Given the description of an element on the screen output the (x, y) to click on. 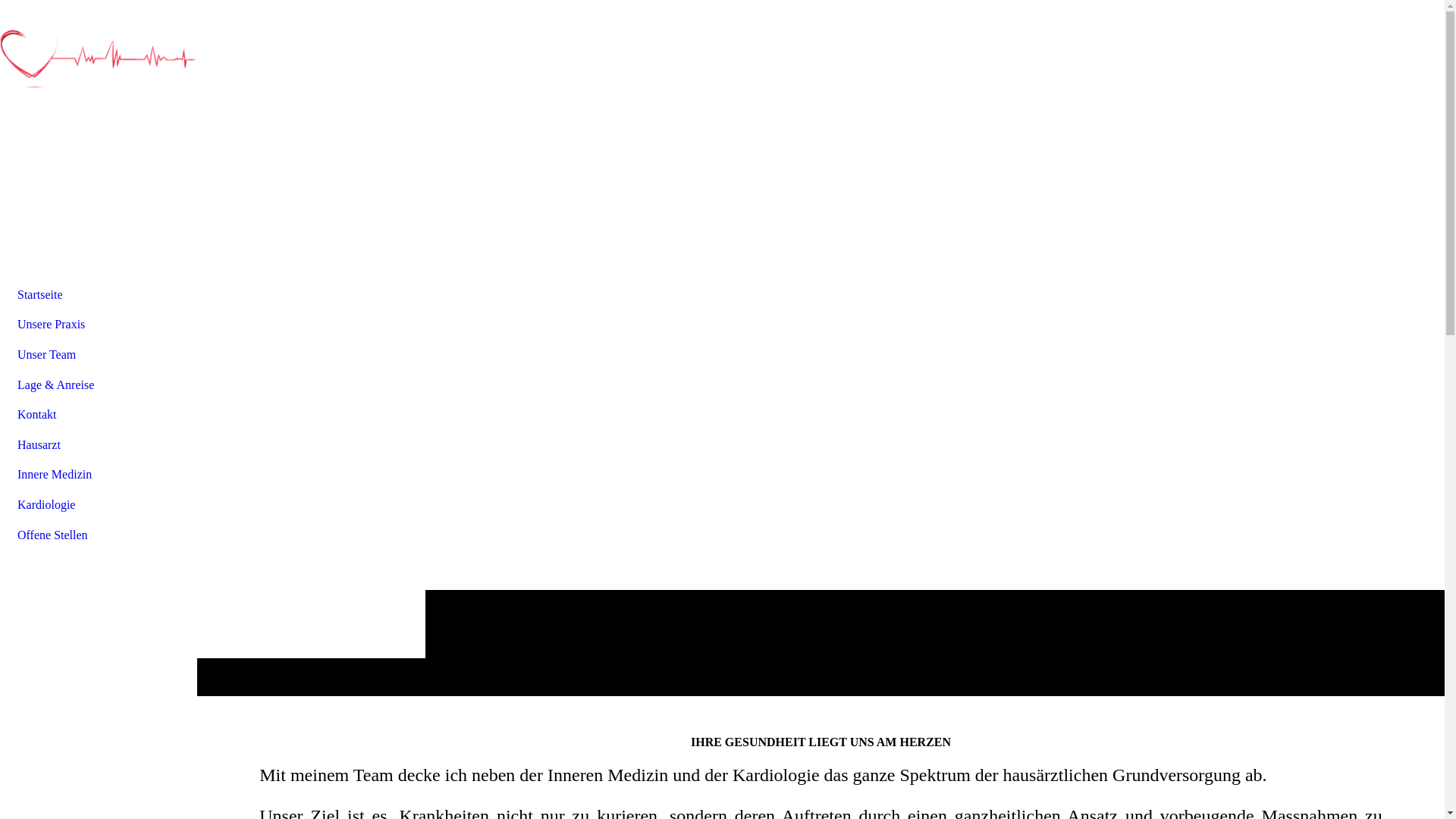
Innere Medizin Element type: text (98, 474)
Unser Team Element type: text (98, 354)
Lage & Anreise Element type: text (98, 385)
Startseite Element type: text (98, 294)
Offene Stellen Element type: text (98, 535)
Kontakt Element type: text (98, 414)
Unsere Praxis Element type: text (98, 324)
Hausarzt Element type: text (98, 444)
Kardiologie Element type: text (98, 504)
